Given the description of an element on the screen output the (x, y) to click on. 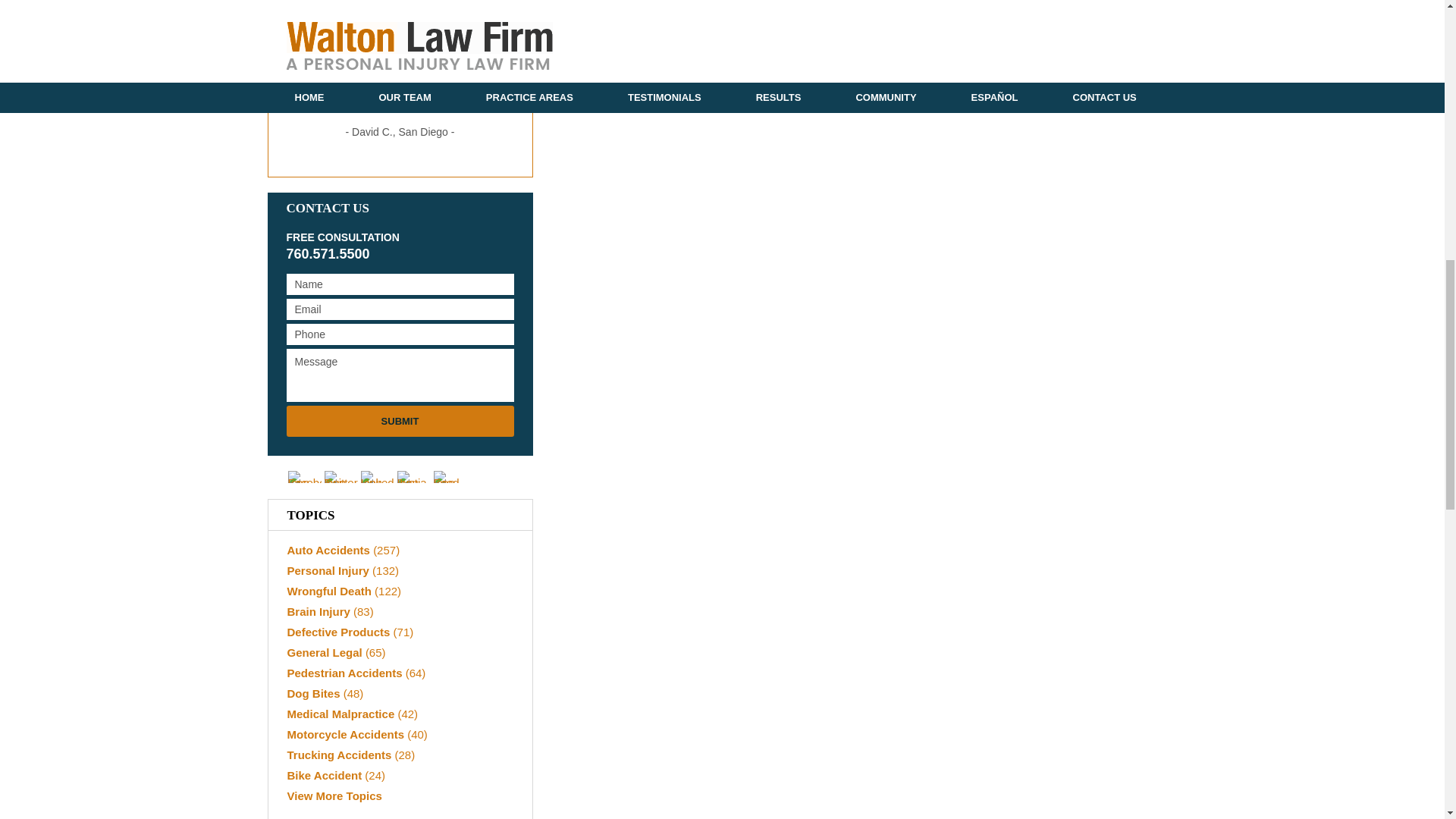
Feed (450, 476)
Please enter a valid phone number. (399, 333)
LinkedIn (377, 476)
Twitter (341, 476)
Facebook (304, 476)
Justia (414, 476)
SUBMIT (399, 420)
